Given the description of an element on the screen output the (x, y) to click on. 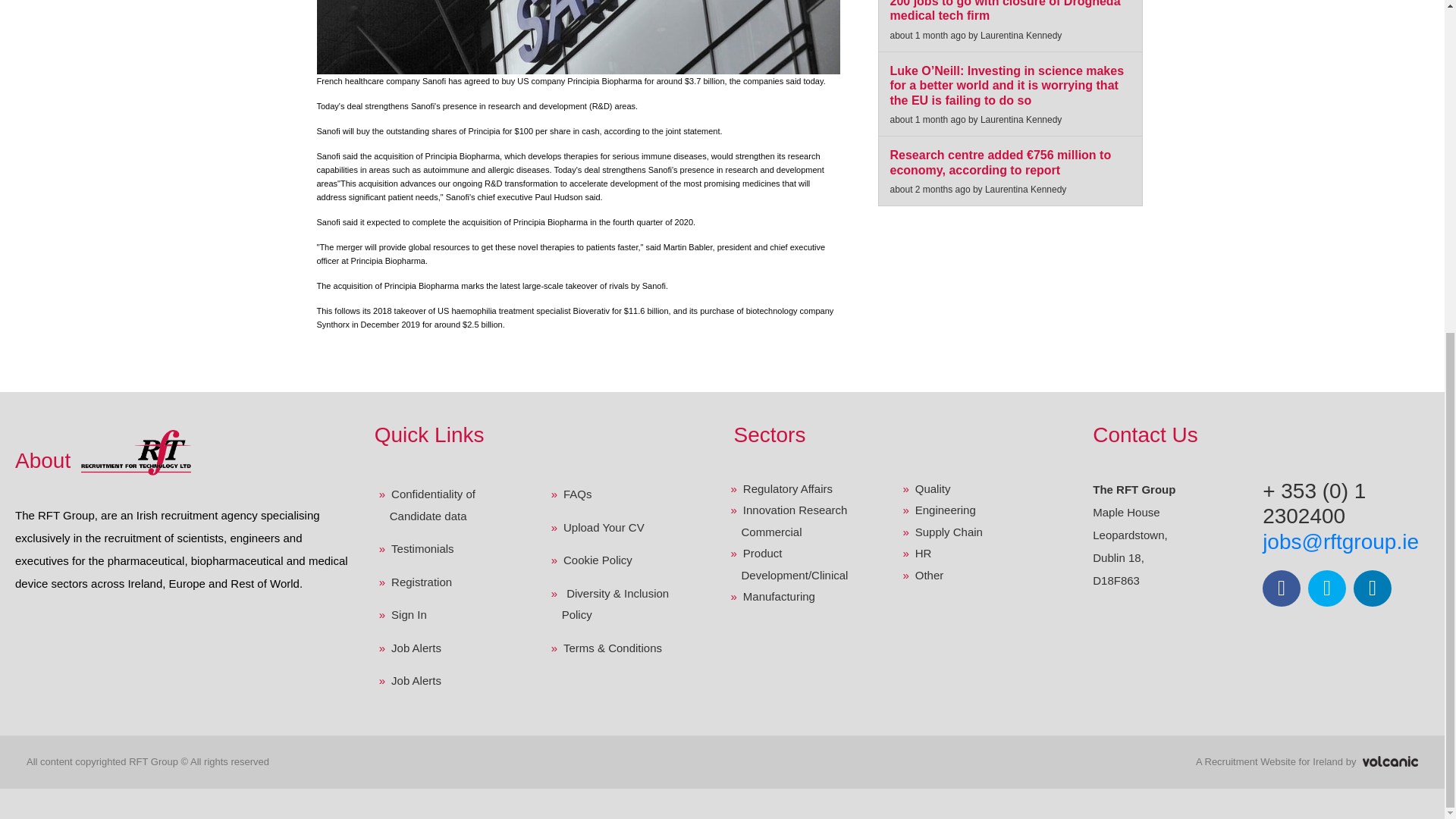
FAQs (627, 494)
Job Alerts (454, 648)
Sign In (454, 614)
Upload Your CV (627, 527)
Testimonials (454, 549)
Registration (454, 582)
Job Alerts (454, 681)
Confidentiality of Candidate data (454, 504)
